Given the description of an element on the screen output the (x, y) to click on. 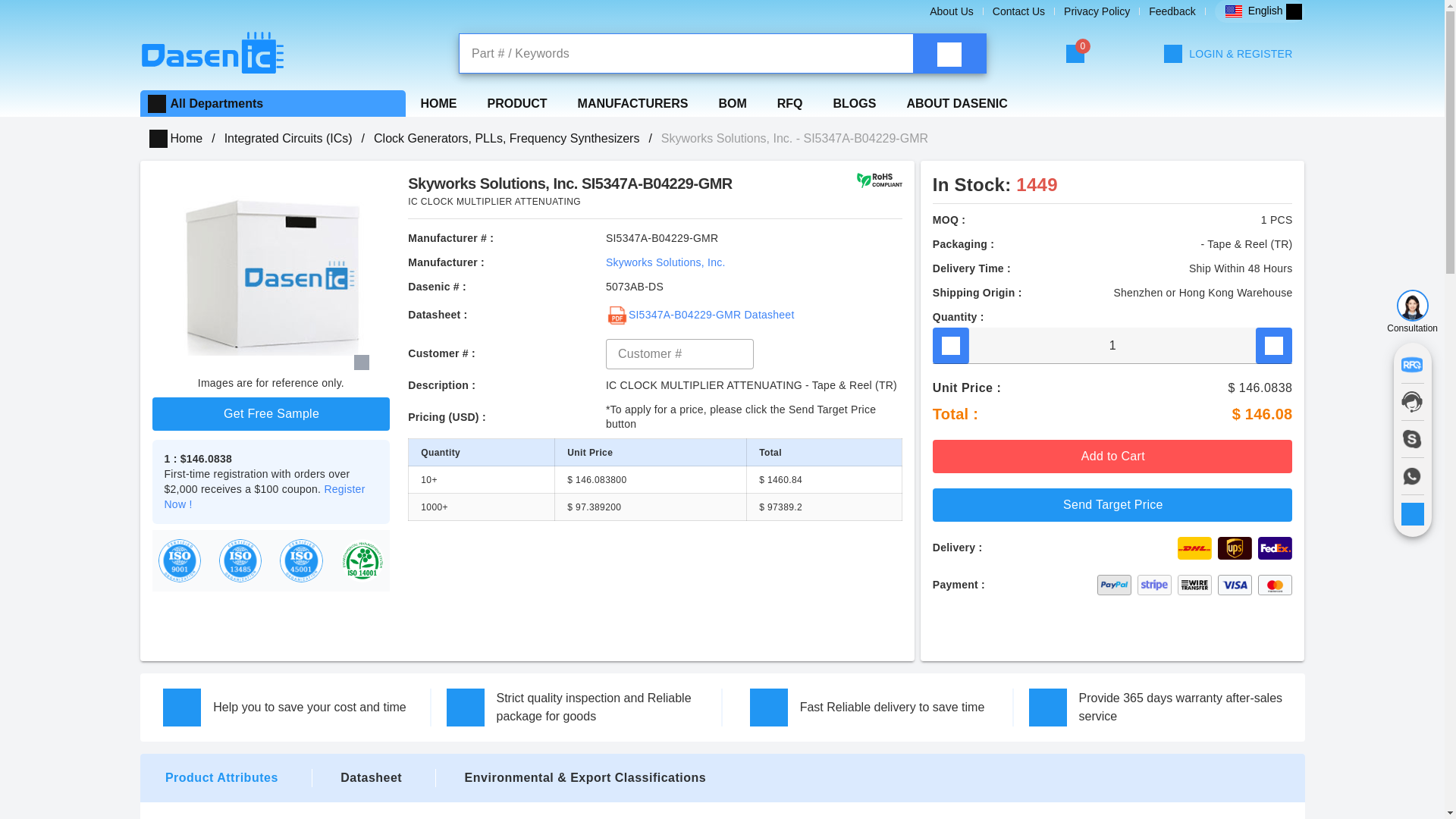
Contact Us (1018, 11)
Privacy Policy (1096, 11)
About Us (952, 11)
0 (1074, 54)
Feedback (1171, 11)
1 (1112, 345)
All Departments (216, 103)
